Given the description of an element on the screen output the (x, y) to click on. 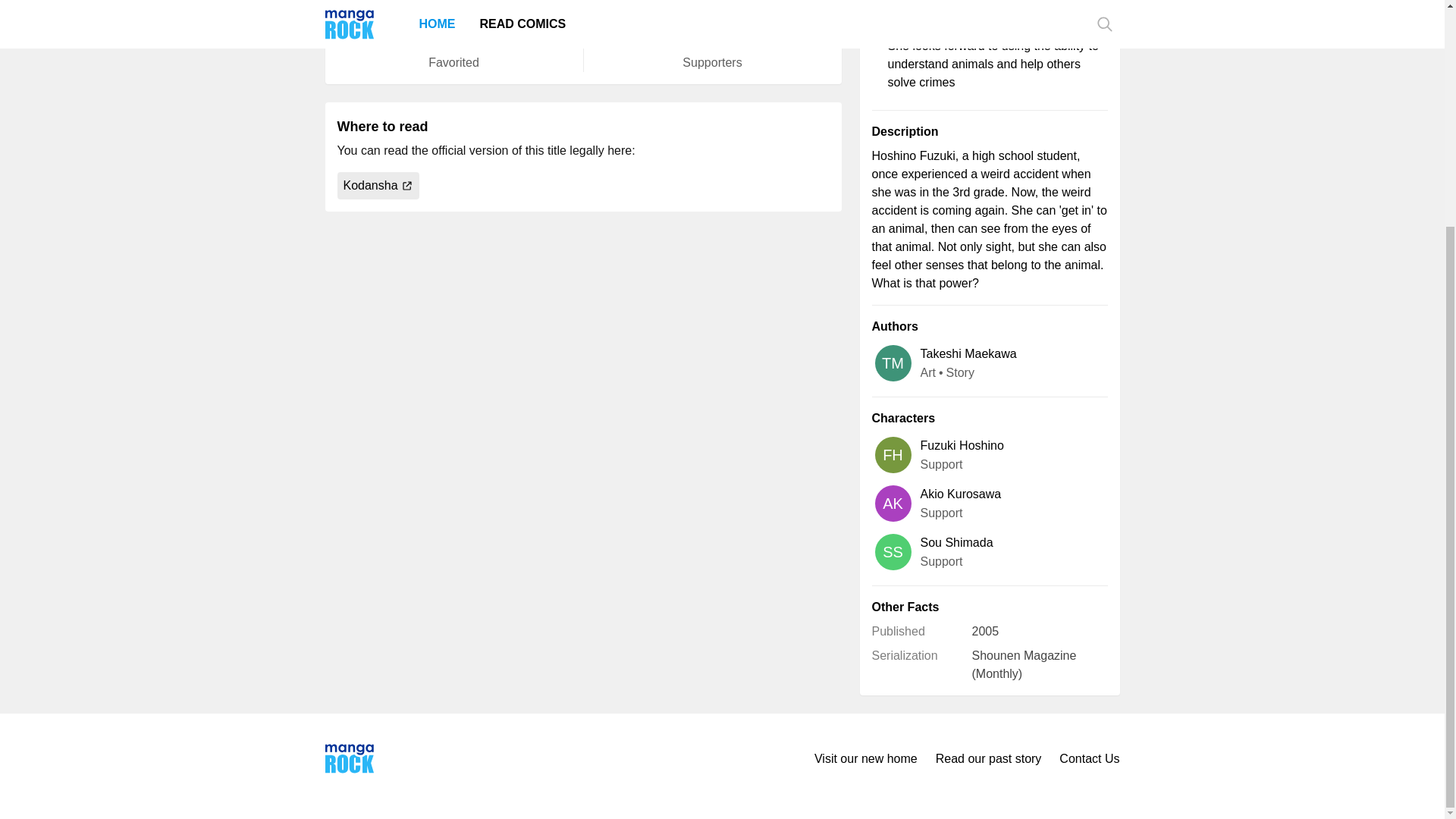
Fuzuki Hoshino (962, 444)
Contact Us (1089, 759)
Sou Shimada (956, 542)
Takeshi Maekawa (968, 353)
Visit our new home (865, 759)
Read our past story (989, 759)
Kodansha (377, 185)
Akio Kurosawa (960, 493)
